Given the description of an element on the screen output the (x, y) to click on. 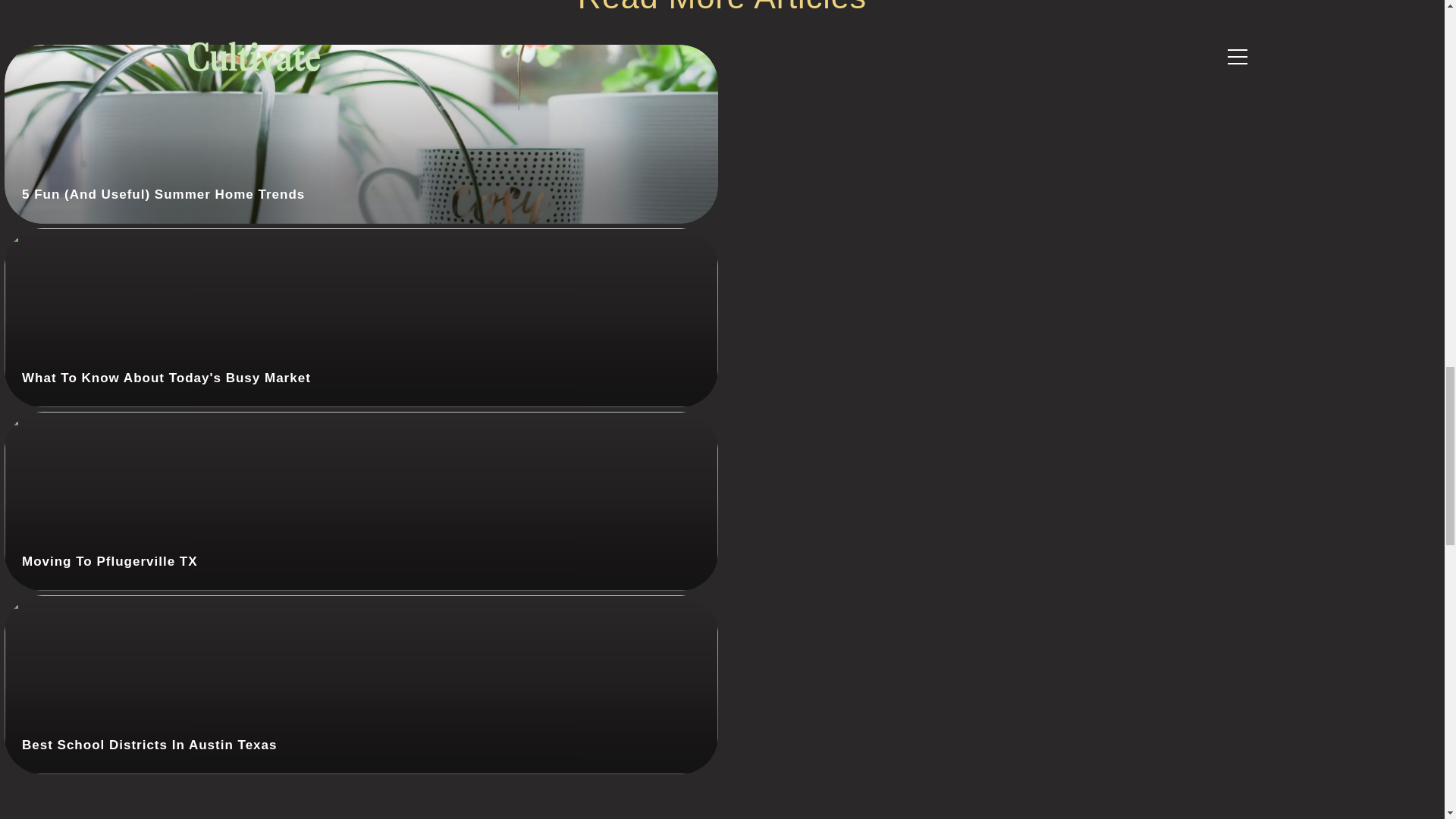
What To Know About Today'S Busy Market (360, 317)
Moving To Pflugerville TX (360, 500)
Best School Districts In Austin Texas (360, 684)
